Given the description of an element on the screen output the (x, y) to click on. 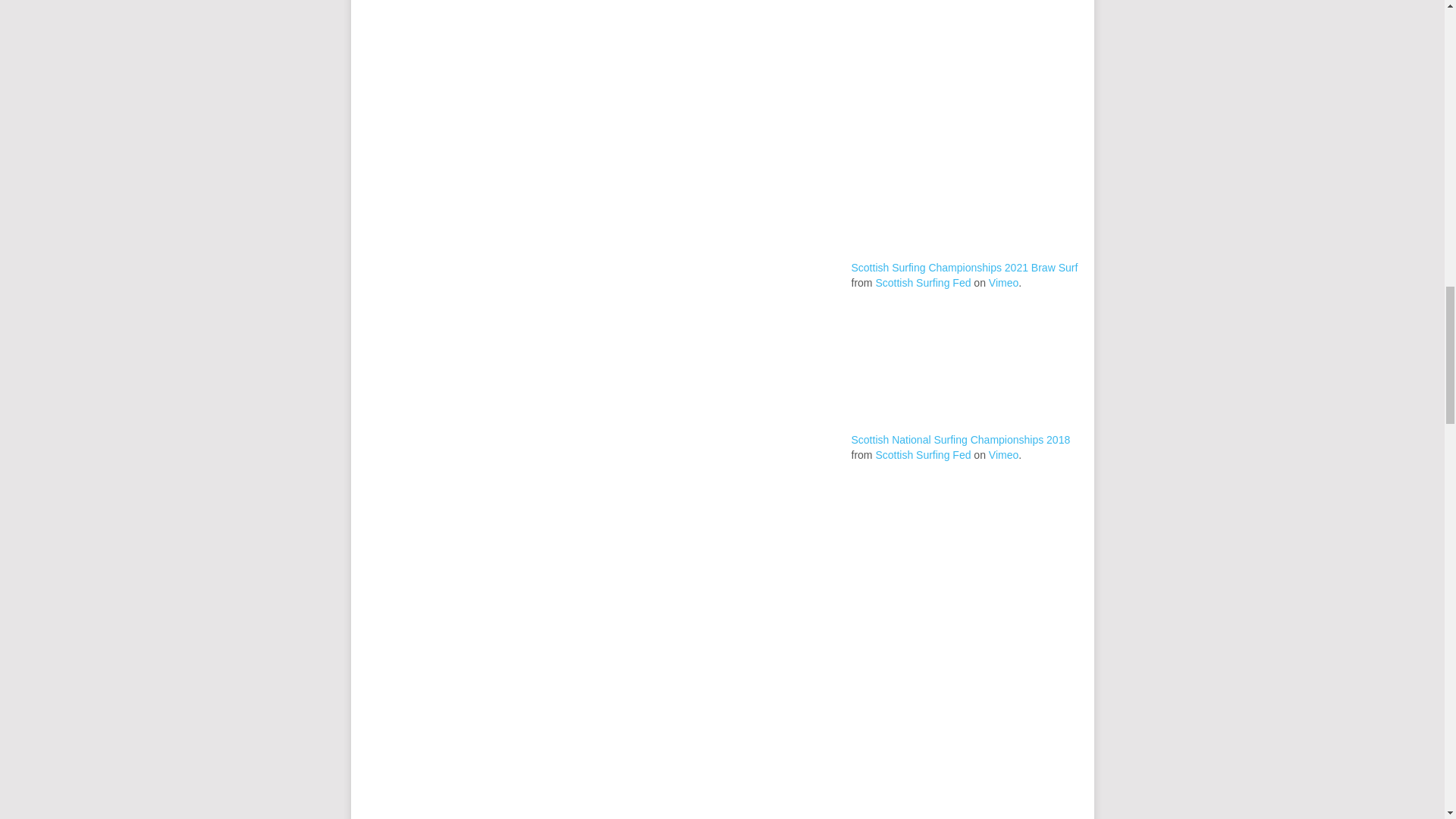
Scottish National Surfing Championships 2018 (960, 439)
Scottish Surfing Championships 2021 Braw Surf (963, 267)
YouTube video player (964, 773)
Scottish Surfing Fed (923, 282)
Scottish Surfing Fed (923, 454)
Vimeo (1002, 454)
Vimeo (1002, 282)
